Given the description of an element on the screen output the (x, y) to click on. 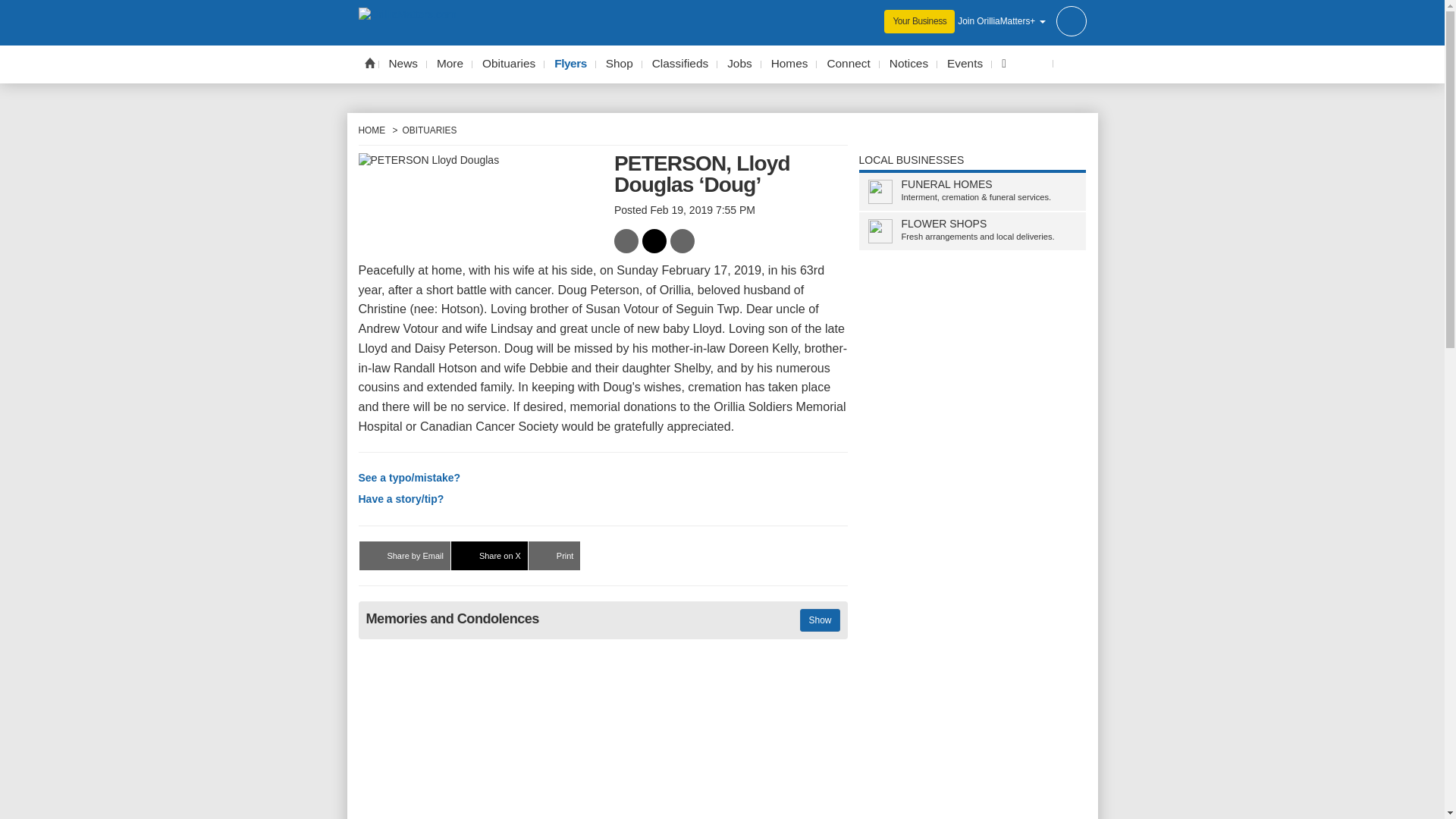
News (403, 64)
Home (368, 62)
Your Business (919, 21)
